Given the description of an element on the screen output the (x, y) to click on. 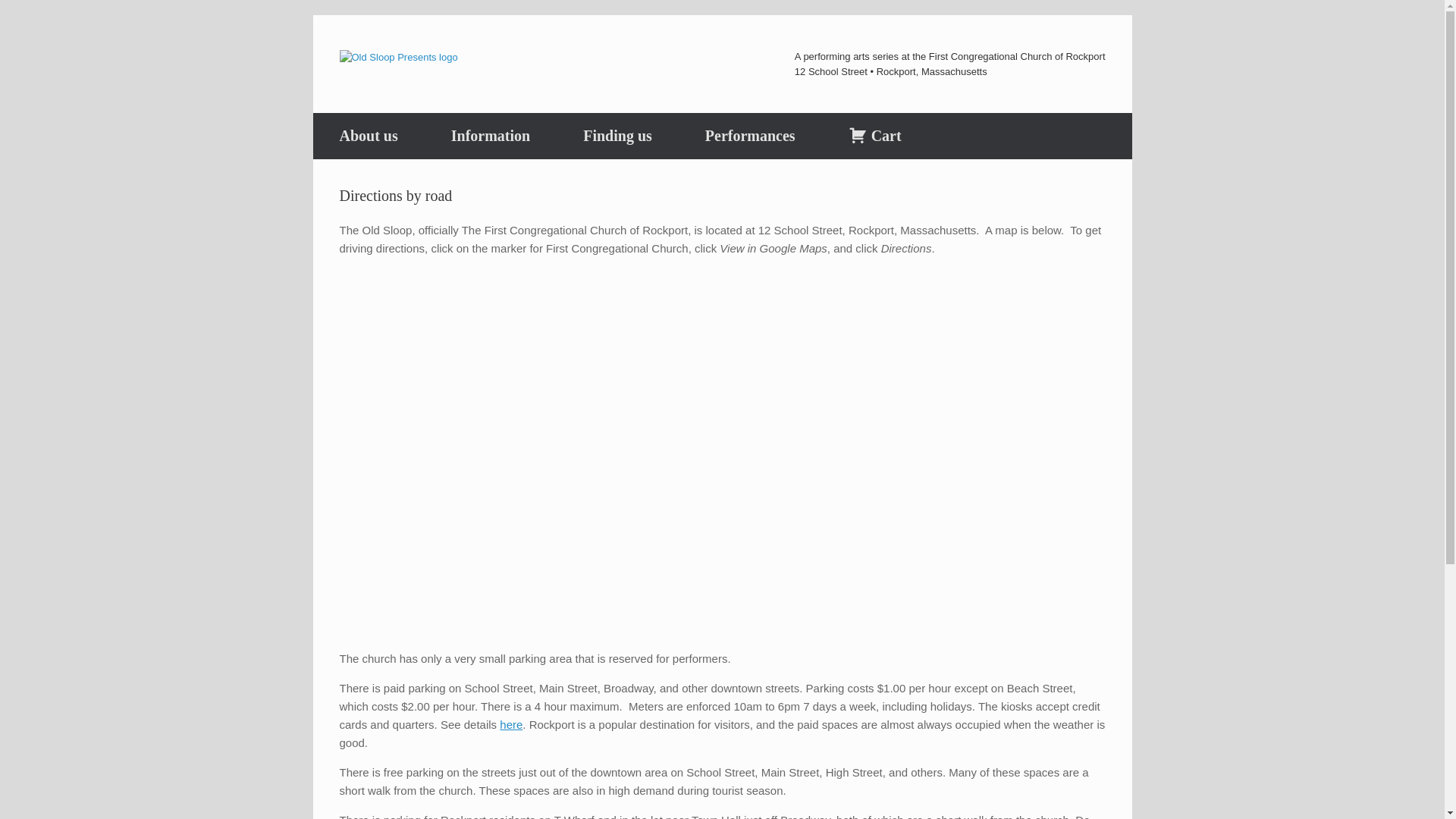
About us (368, 135)
Finding us (617, 135)
Information (490, 135)
Performances (750, 135)
here (510, 724)
Old Sloop Presents (398, 56)
Cart (875, 135)
